Given the description of an element on the screen output the (x, y) to click on. 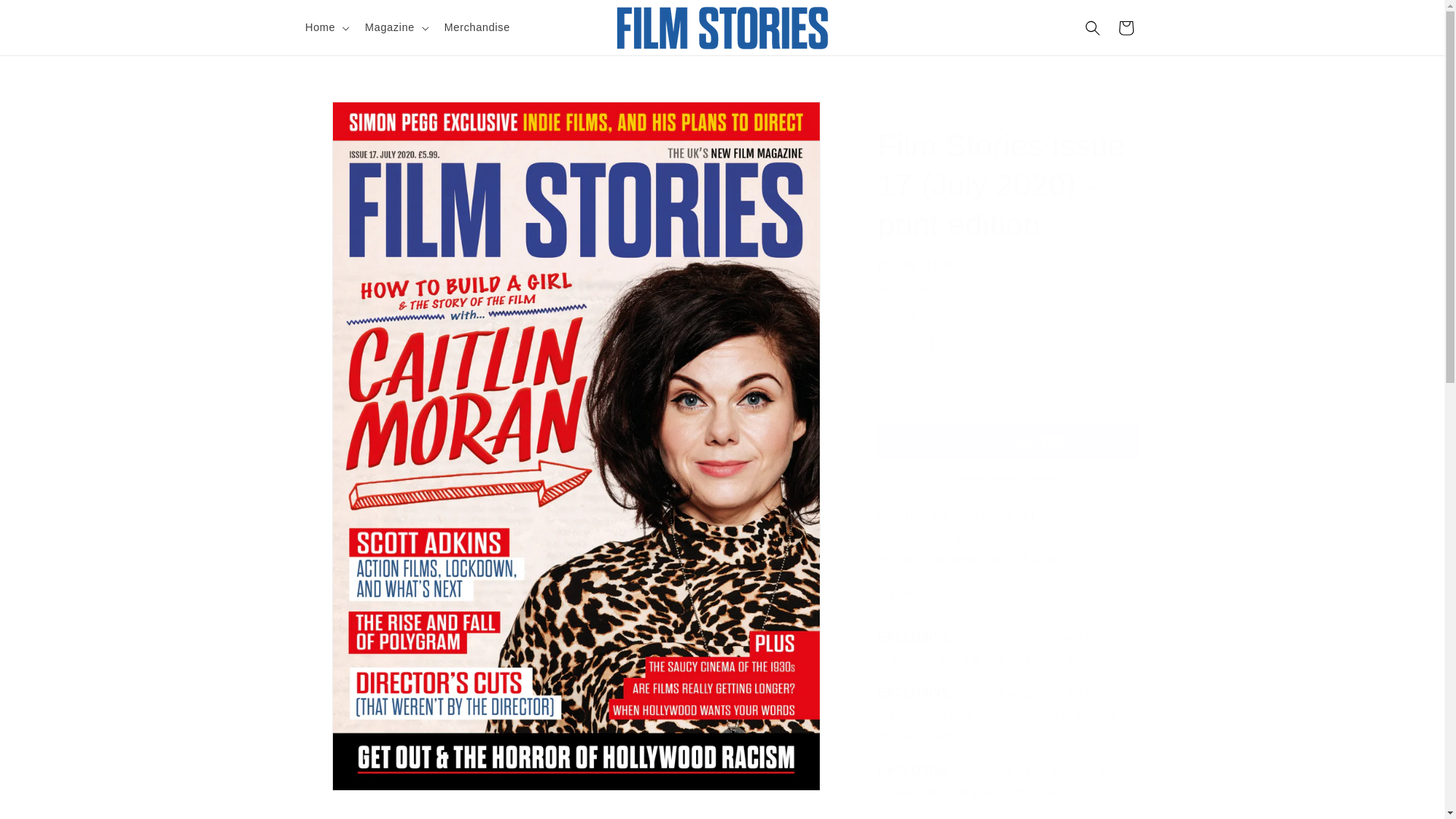
Add to cart (1008, 398)
Cart (1124, 27)
1 (931, 344)
Skip to content (45, 17)
Merchandise (477, 27)
More payment options (1008, 478)
Skip to product information (350, 118)
